Given the description of an element on the screen output the (x, y) to click on. 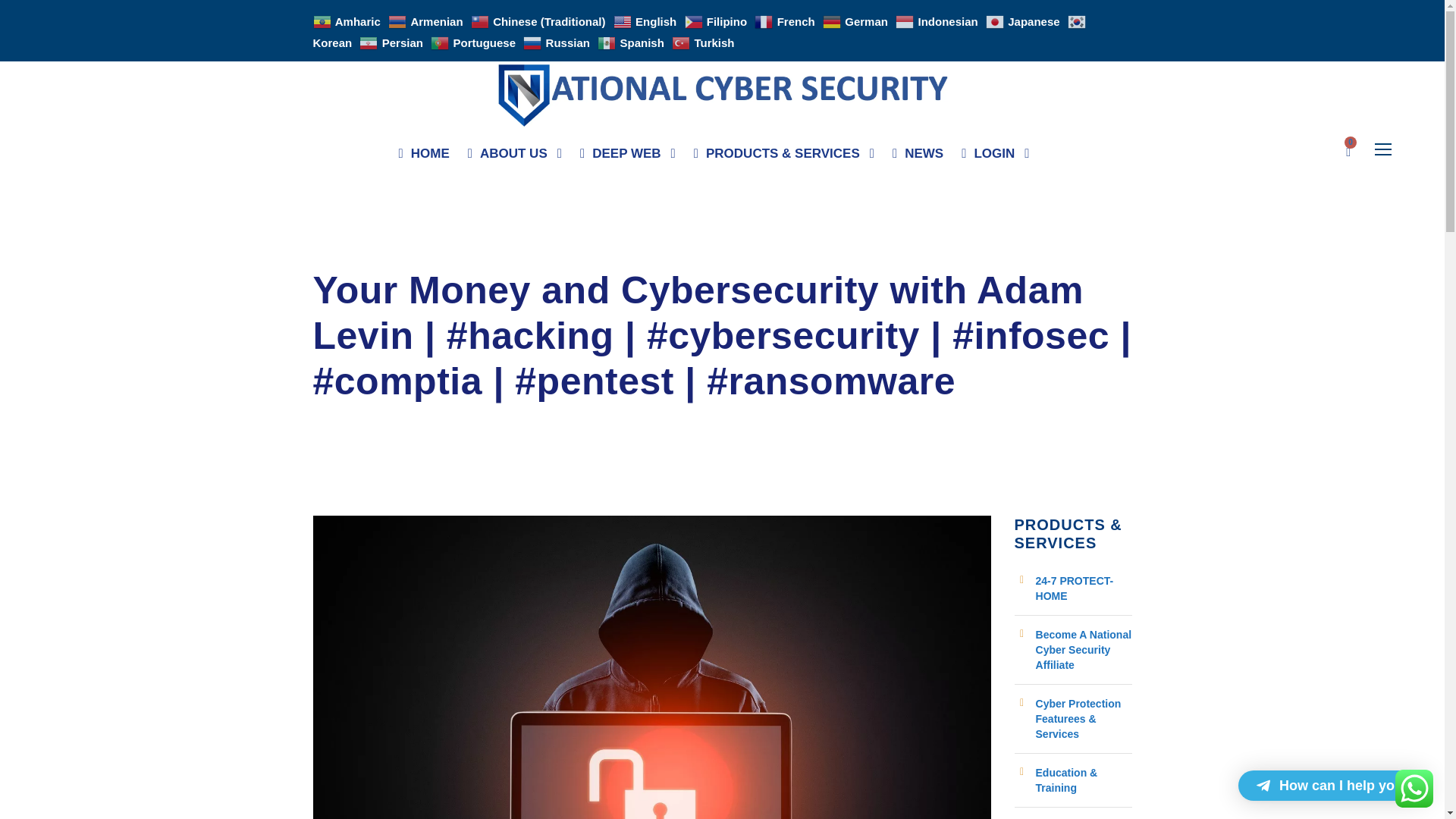
Posts by Natioinal Cyber Security Training Academy Corp (443, 254)
